Given the description of an element on the screen output the (x, y) to click on. 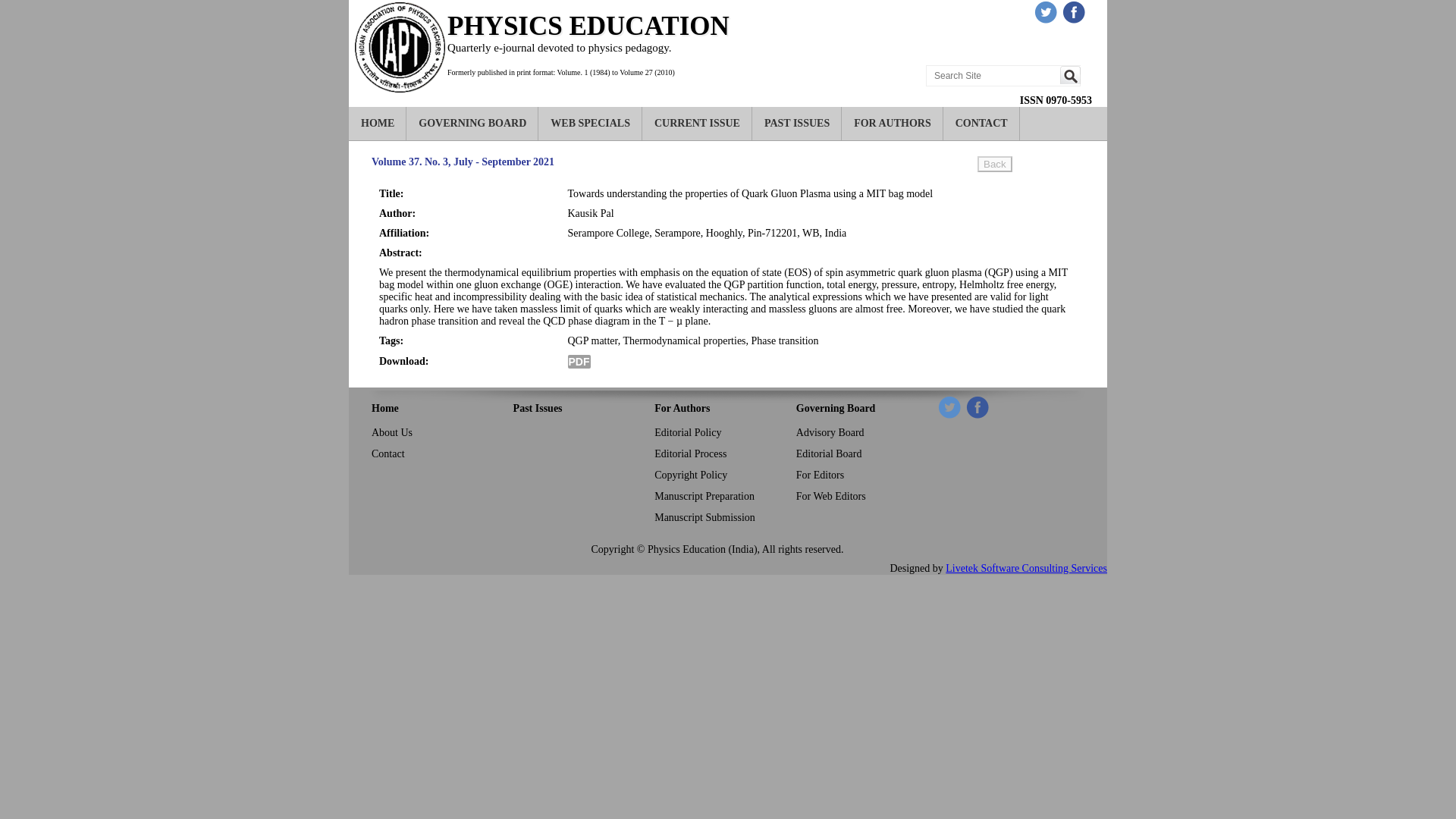
Back (993, 163)
About Us (391, 432)
Twitter (948, 406)
HOME (377, 123)
Facebook (977, 406)
Search (1069, 75)
PAST ISSUES (796, 123)
Facebook (1073, 12)
Twitter (1045, 12)
Volume 37. No. 3, July - September 2021 (462, 161)
